Given the description of an element on the screen output the (x, y) to click on. 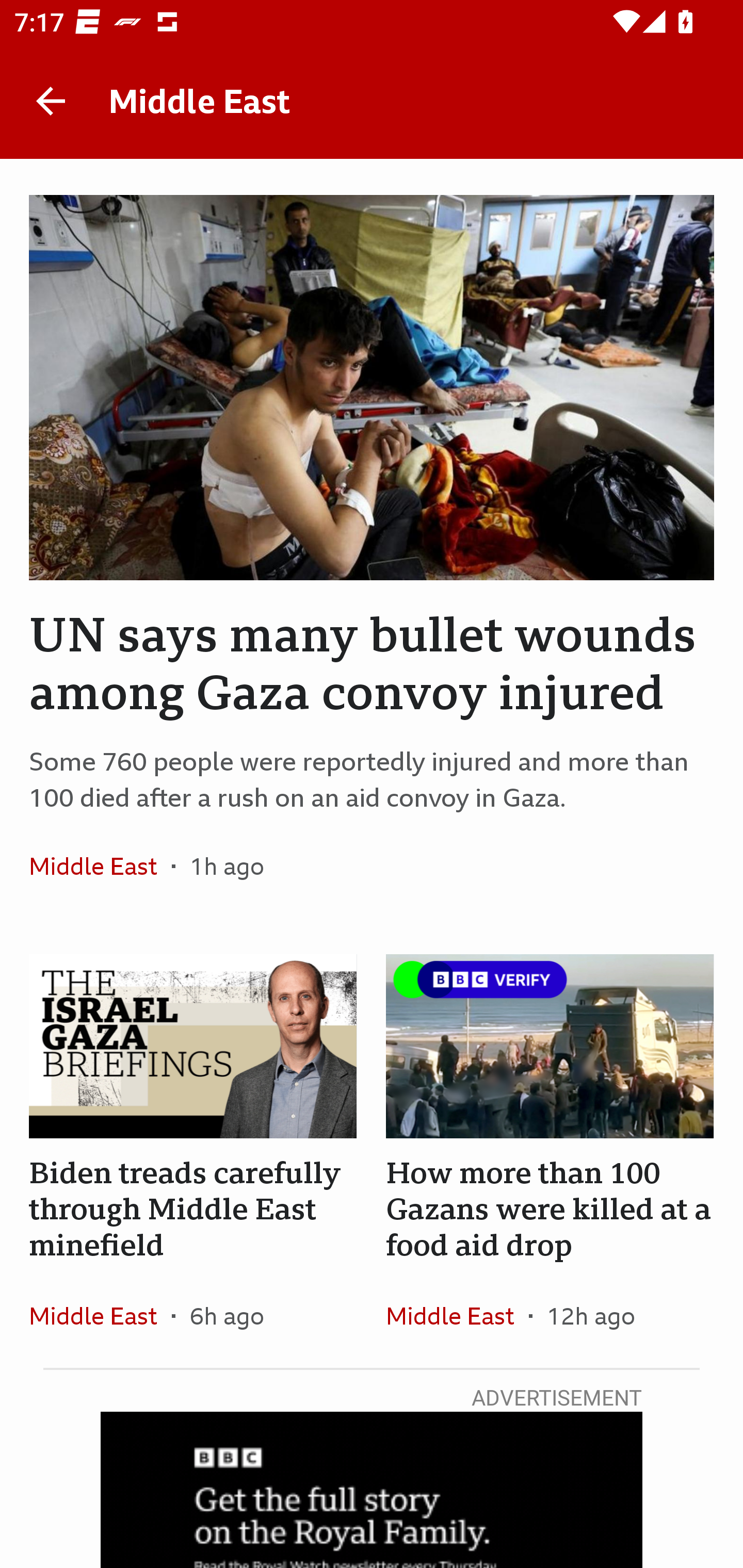
Back (50, 101)
Middle East In the section Middle East (99, 865)
Middle East In the section Middle East (99, 1315)
Middle East In the section Middle East (457, 1315)
